Given the description of an element on the screen output the (x, y) to click on. 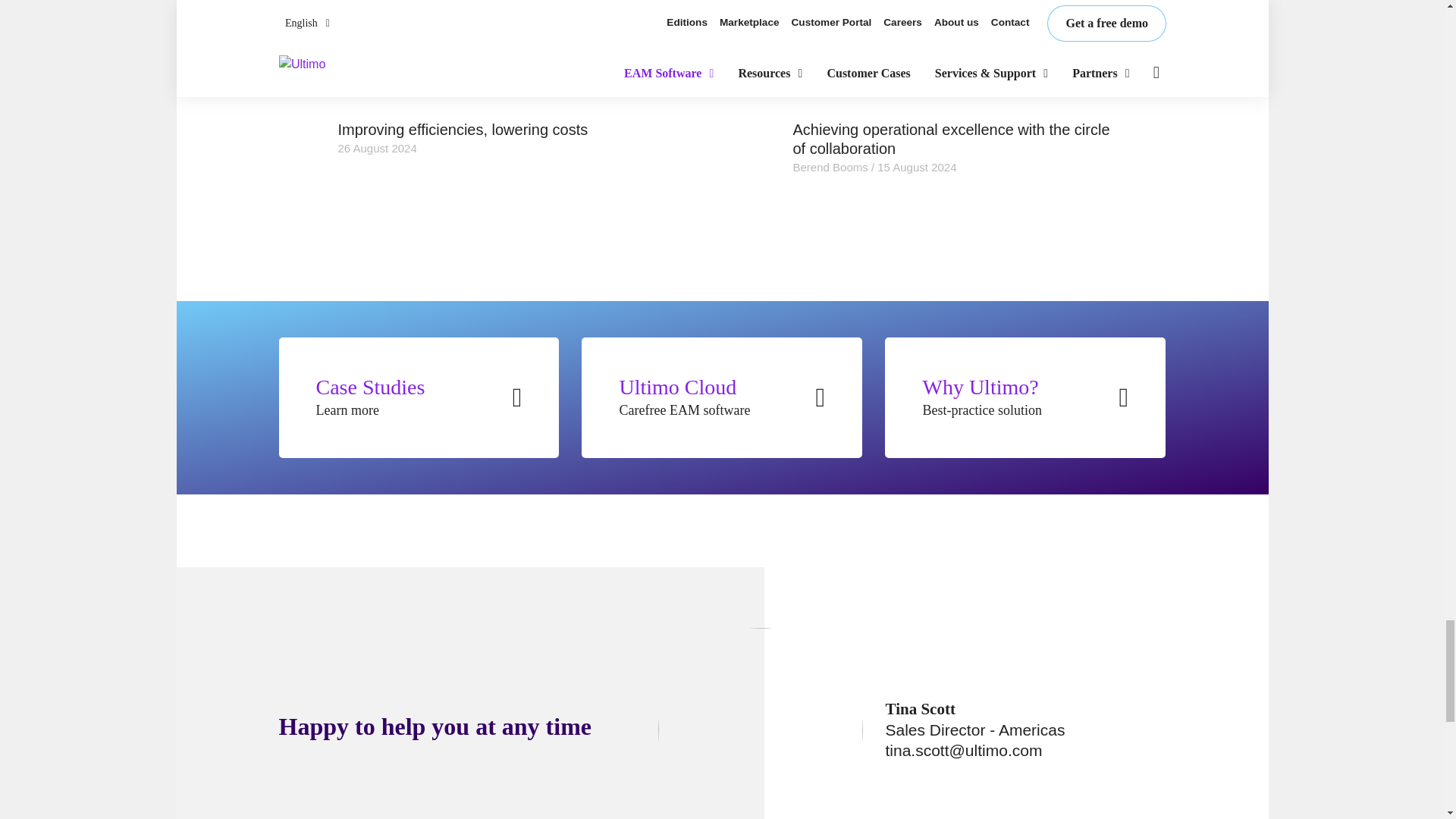
Why Ultimo? (1025, 397)
Ultimo Cloud (720, 397)
Case Studies (419, 397)
Improving efficiencies, lowering costs (500, 129)
